Given the description of an element on the screen output the (x, y) to click on. 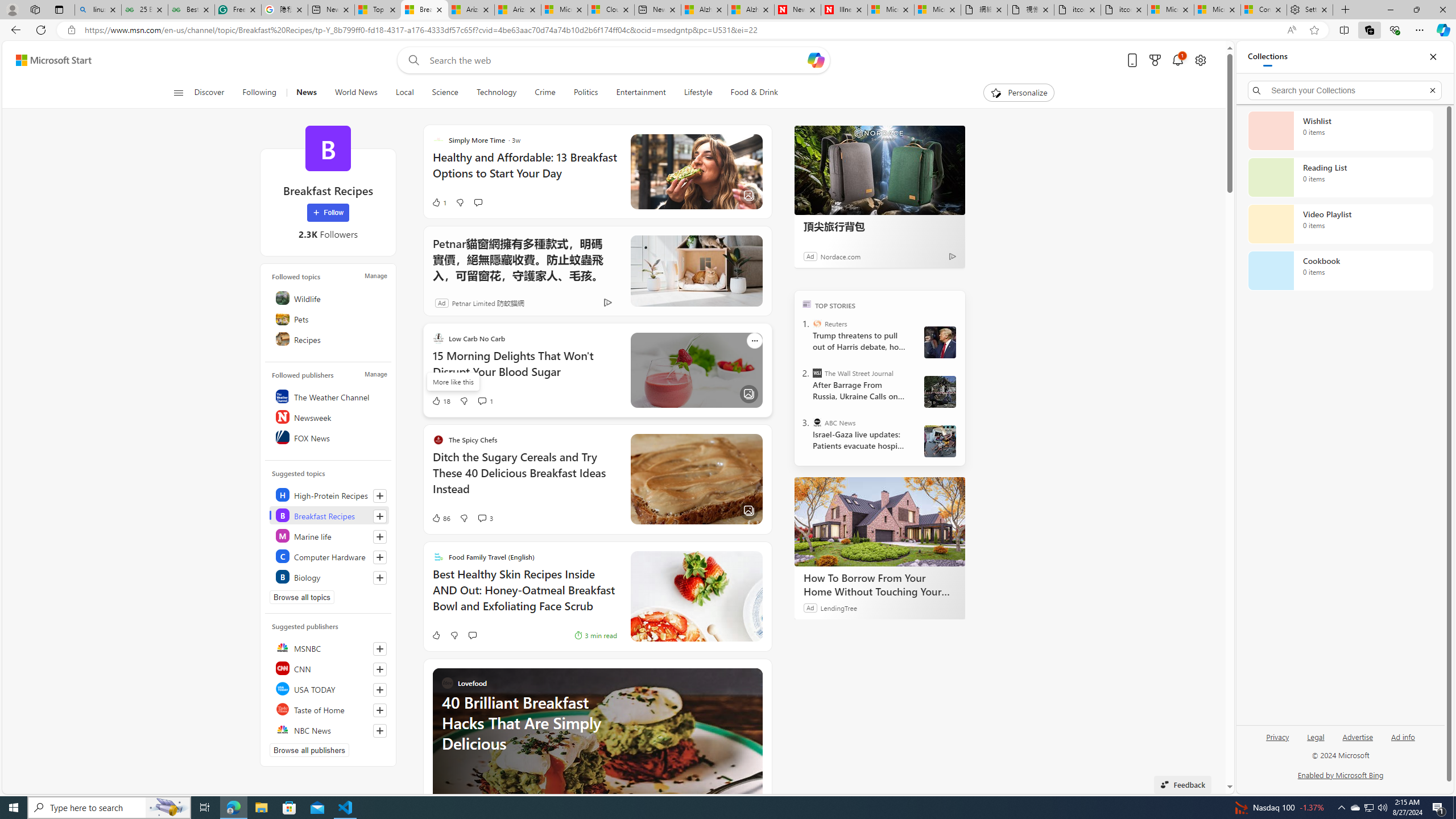
Breakfast Recipes - MSN (424, 9)
See more (753, 675)
Legal (1315, 741)
Best SSL Certificates Provider in India - GeeksforGeeks (191, 9)
1 Like (438, 202)
Food & Drink (748, 92)
Free AI Writing Assistance for Students | Grammarly (237, 9)
